Given the description of an element on the screen output the (x, y) to click on. 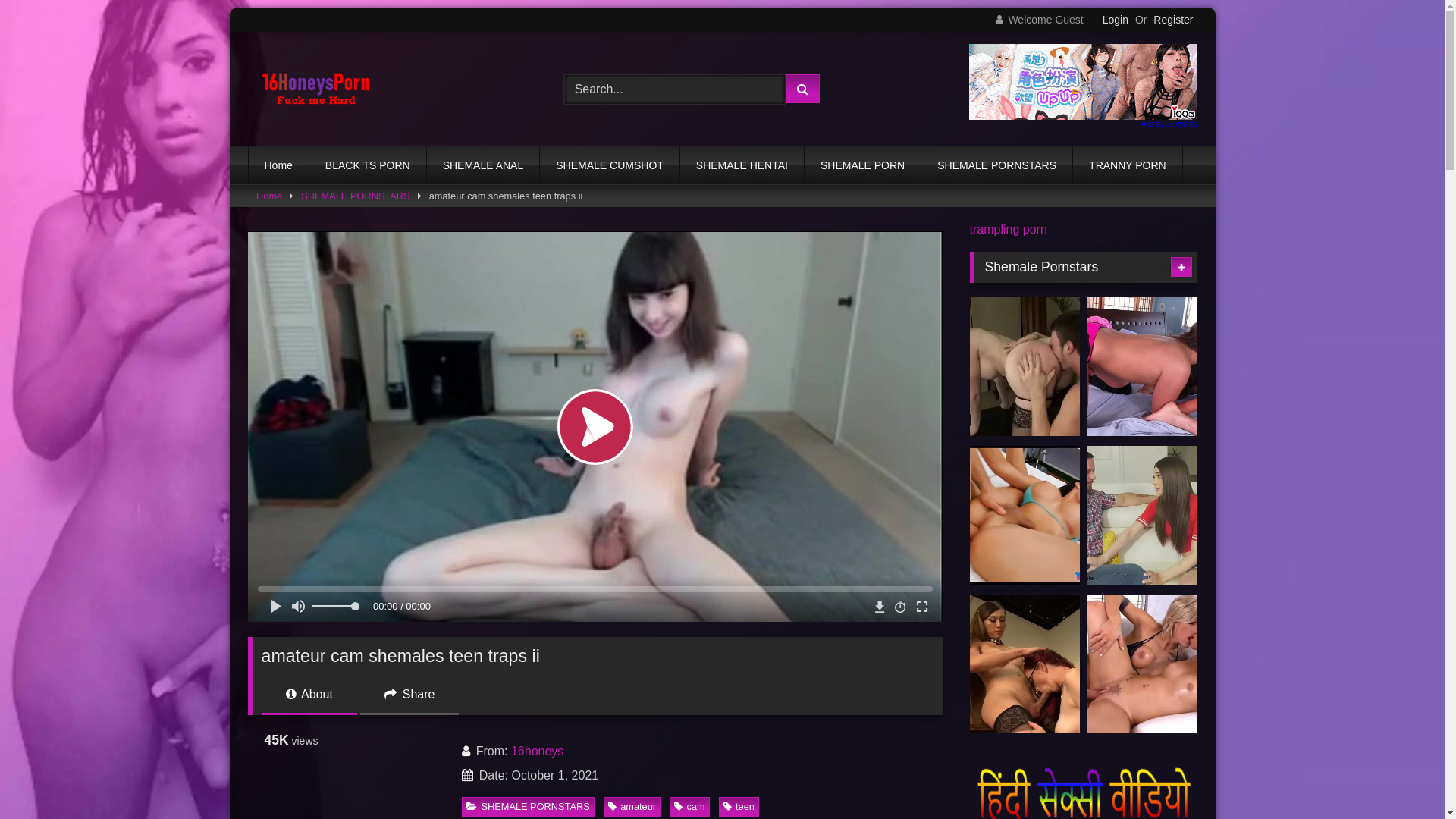
Skip to content Element type: text (229, 6)
Stunning tranny fucked in her big butt by hard man meat Element type: hover (1024, 514)
Big ass ginger TS anal fucking boss Element type: hover (1024, 366)
Only SHEMALE PORN, TRANNY PORN Element type: hover (315, 89)
Login Element type: text (1115, 19)
SHEMALE HENTAI Element type: text (741, 165)
SHEMALE PORNSTARS Element type: text (996, 165)
trampling porn Element type: text (1007, 228)
Home Element type: text (269, 196)
SHEMALE PORNSTARS Element type: text (527, 806)
SHEMALE CUMSHOT Element type: text (609, 165)
SHEMALE ANAL Element type: text (482, 165)
amateur Element type: text (631, 806)
TRANNY PORN Element type: text (1127, 165)
Register Element type: text (1172, 19)
16honeys Element type: text (537, 750)
TS Nina Lawless Having Sex With A Black Girl Element type: hover (1142, 663)
Share Element type: text (409, 700)
TS Jessy Bells getting assfucked by horny daddy Element type: hover (1142, 514)
Aspen Brooks and her bitch boy Element type: hover (1142, 366)
SHEMALE PORN Element type: text (862, 165)
SHEMALE PORNSTARS Element type: text (355, 196)
Shemale student fucks her colleague Element type: hover (1024, 663)
BLACK TS PORN Element type: text (367, 165)
About Element type: text (308, 700)
Home Element type: text (278, 165)
cam Element type: text (689, 806)
teen Element type: text (738, 806)
